Given the description of an element on the screen output the (x, y) to click on. 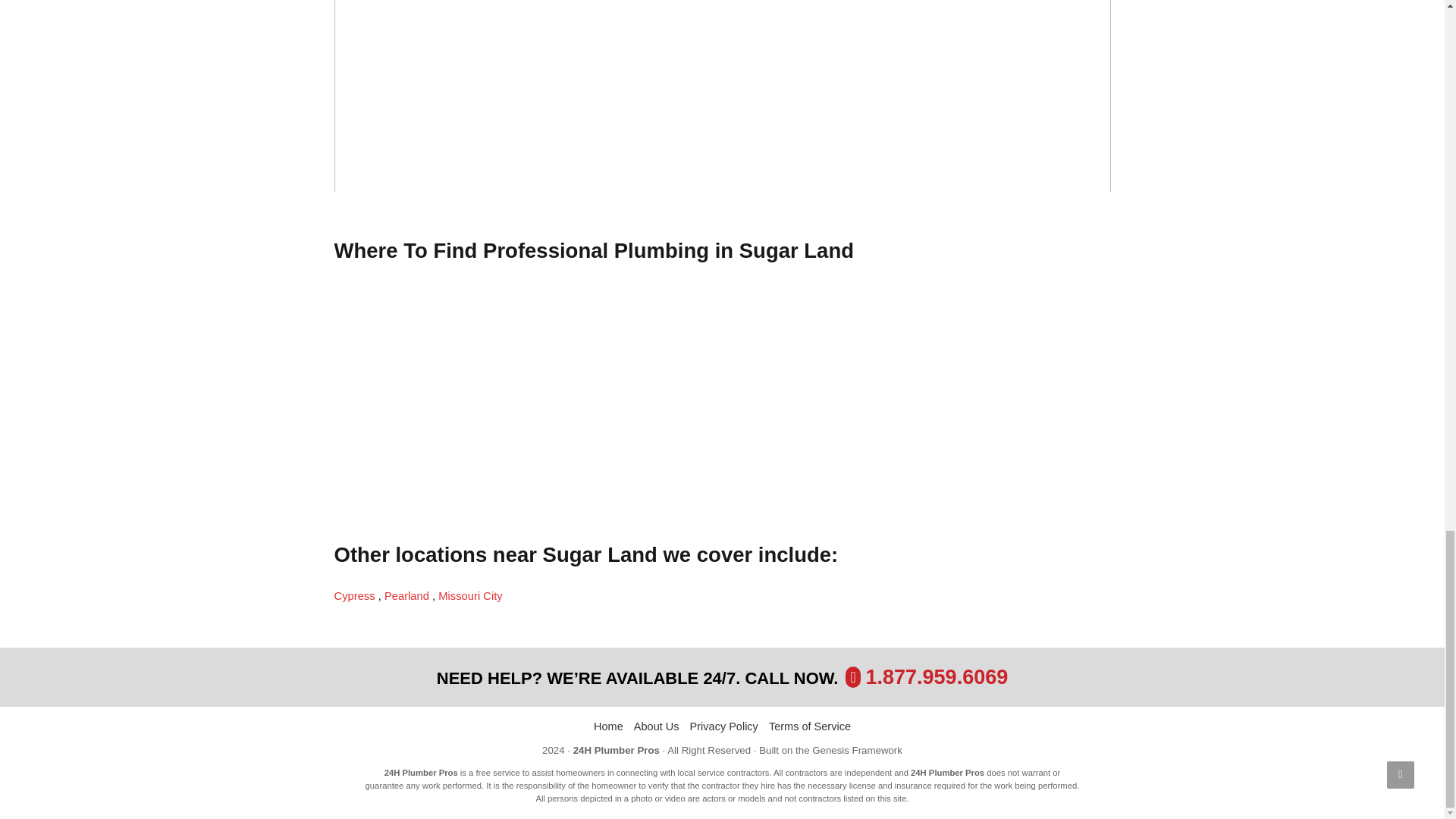
Cypress (355, 595)
Pearland (408, 595)
About Us (656, 727)
Emergency Plumber Missouri City, TX (470, 595)
Emergency Plumber Cypress, TX (355, 595)
Home (608, 727)
Privacy Policy (724, 727)
Missouri City (470, 595)
24H Plumber Pros (616, 749)
